Given the description of an element on the screen output the (x, y) to click on. 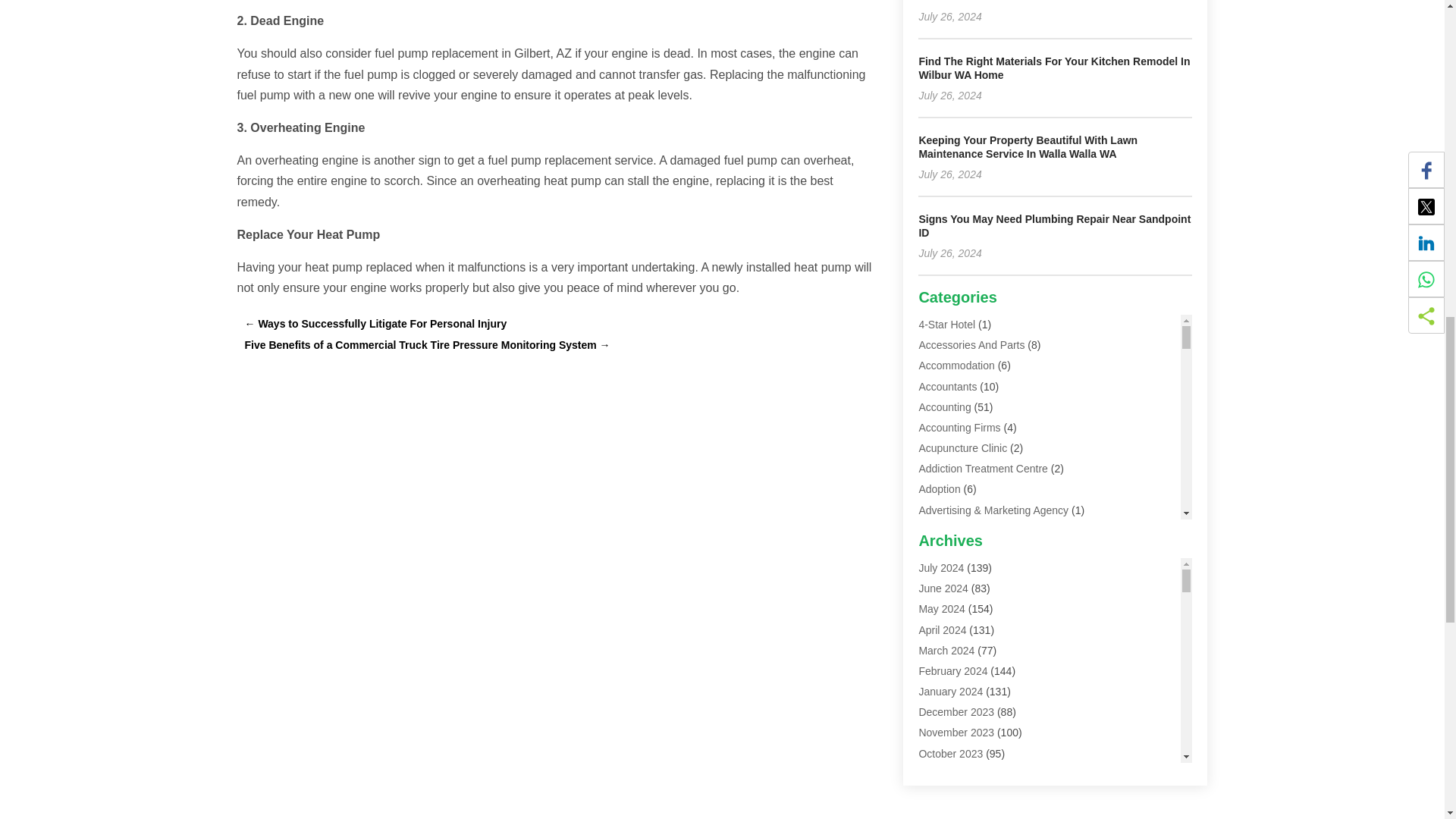
Addiction Treatment Centre (982, 468)
Signs You May Need Plumbing Repair Near Sandpoint ID (1054, 225)
Agriculture (943, 571)
Acupuncture Clinic (962, 448)
Accounting (944, 407)
Accountants (947, 386)
Agronomy (942, 592)
Accounting Firms (959, 427)
Accessories And Parts (971, 345)
Advertising Agency (963, 530)
Adoption (938, 489)
Agricultural Service (964, 551)
